Given the description of an element on the screen output the (x, y) to click on. 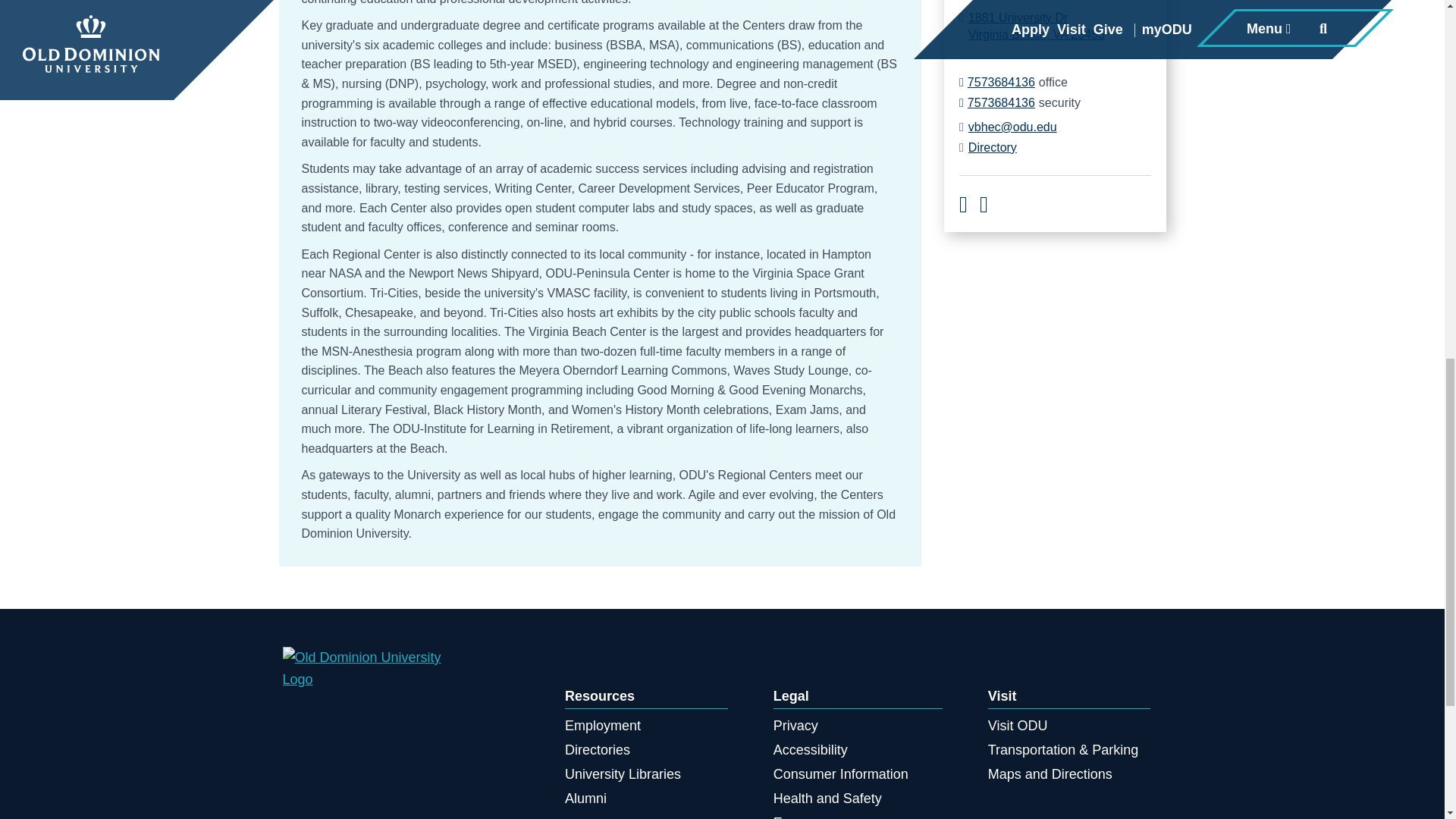
University Libraries (1036, 26)
Directories (622, 774)
7573684136 (597, 749)
Alumni (997, 103)
Directory (585, 798)
7573684136 (992, 146)
Employment (997, 82)
